Given the description of an element on the screen output the (x, y) to click on. 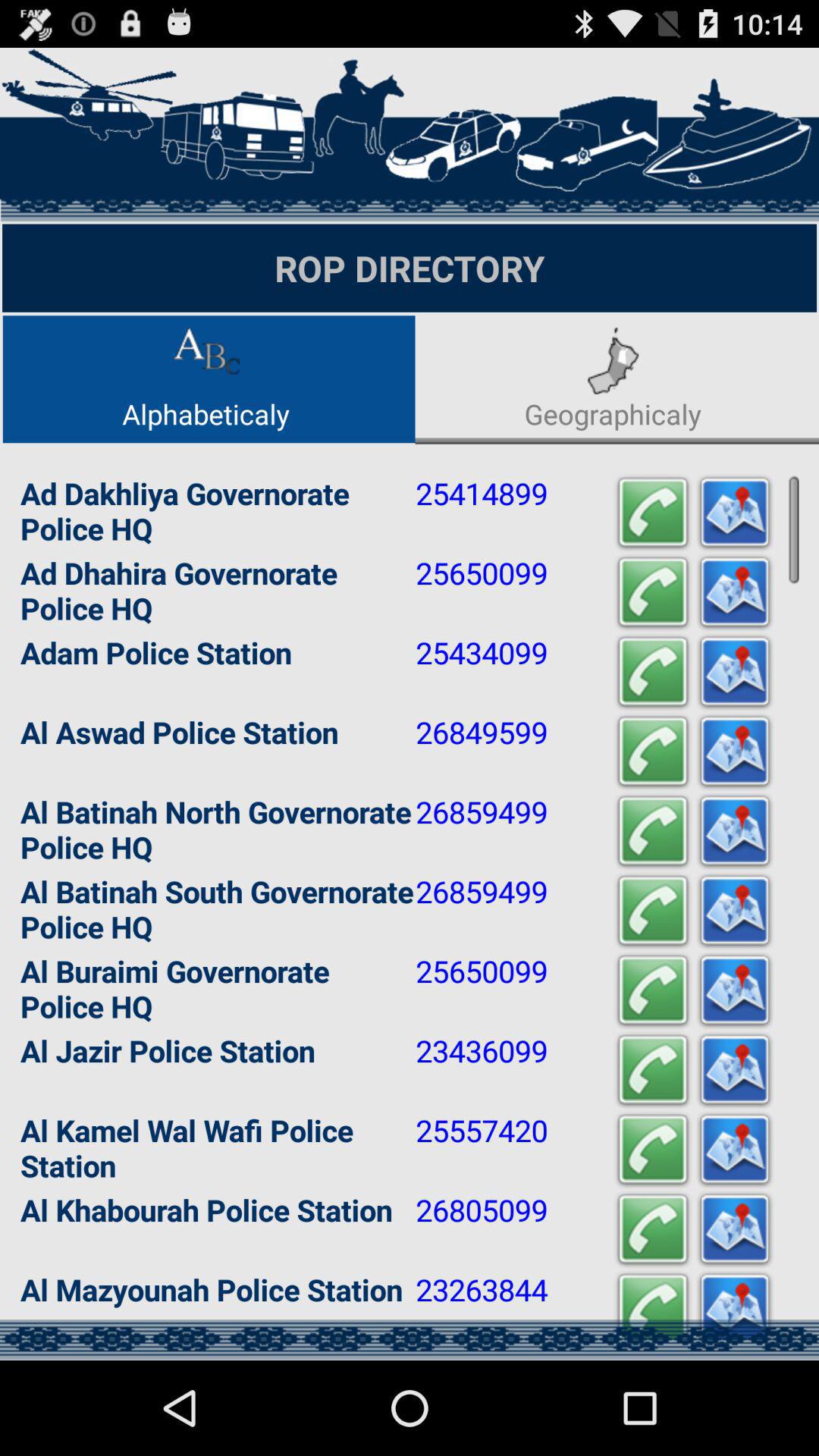
call (652, 831)
